Given the description of an element on the screen output the (x, y) to click on. 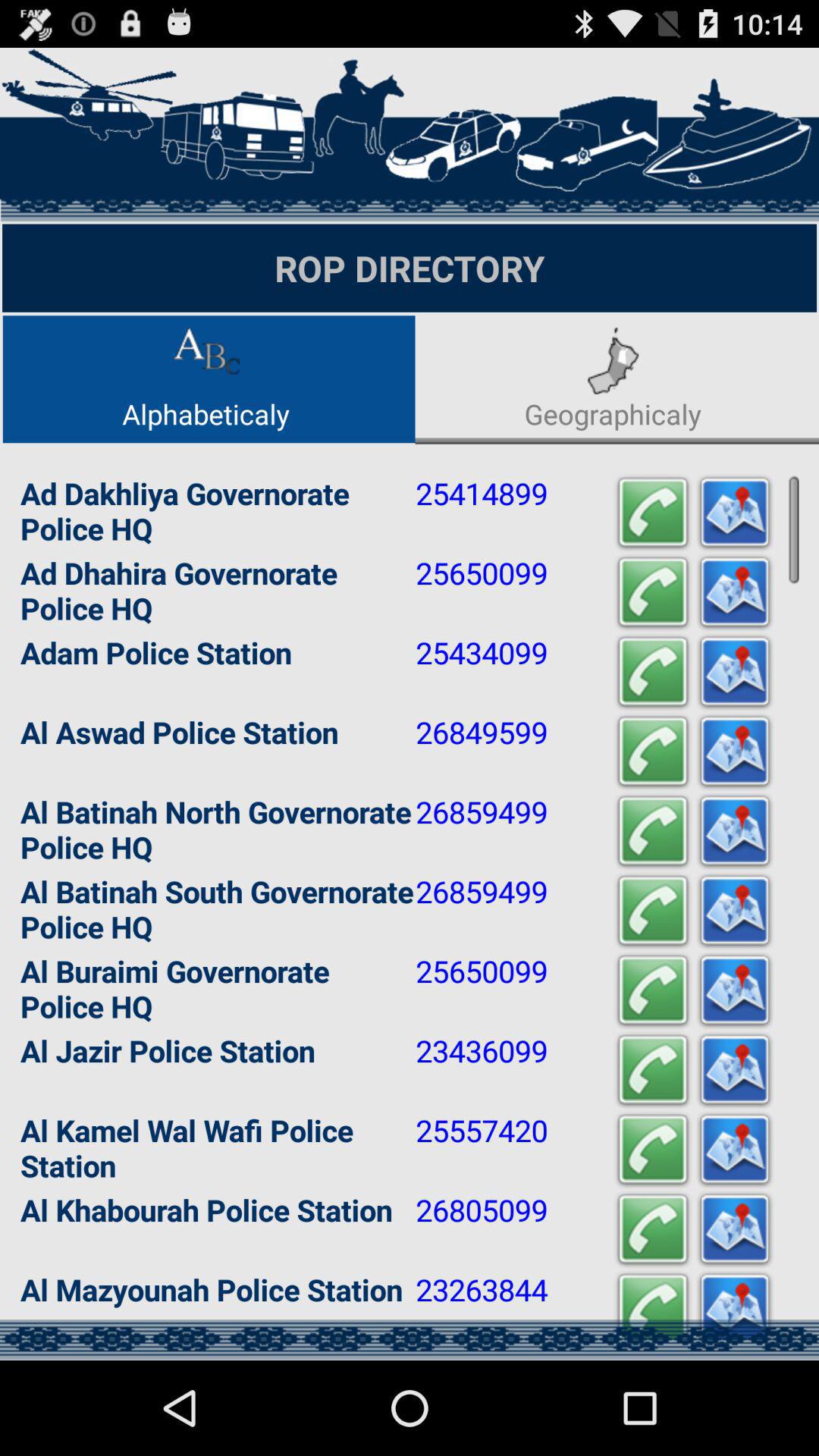
call (652, 831)
